Given the description of an element on the screen output the (x, y) to click on. 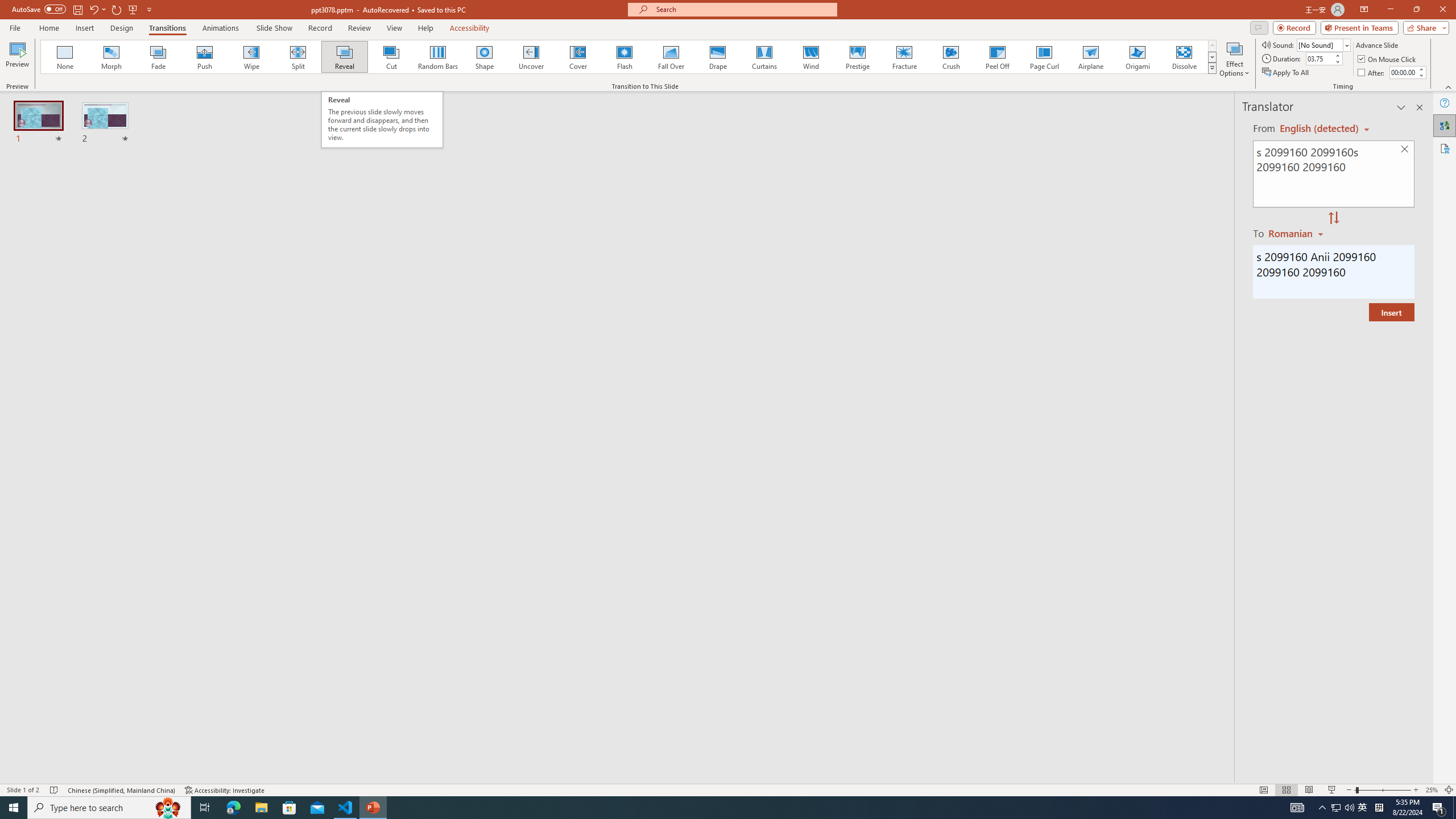
Page Curl (1043, 56)
Push (205, 56)
Prestige (857, 56)
On Mouse Click (1387, 58)
Origami (1136, 56)
